Given the description of an element on the screen output the (x, y) to click on. 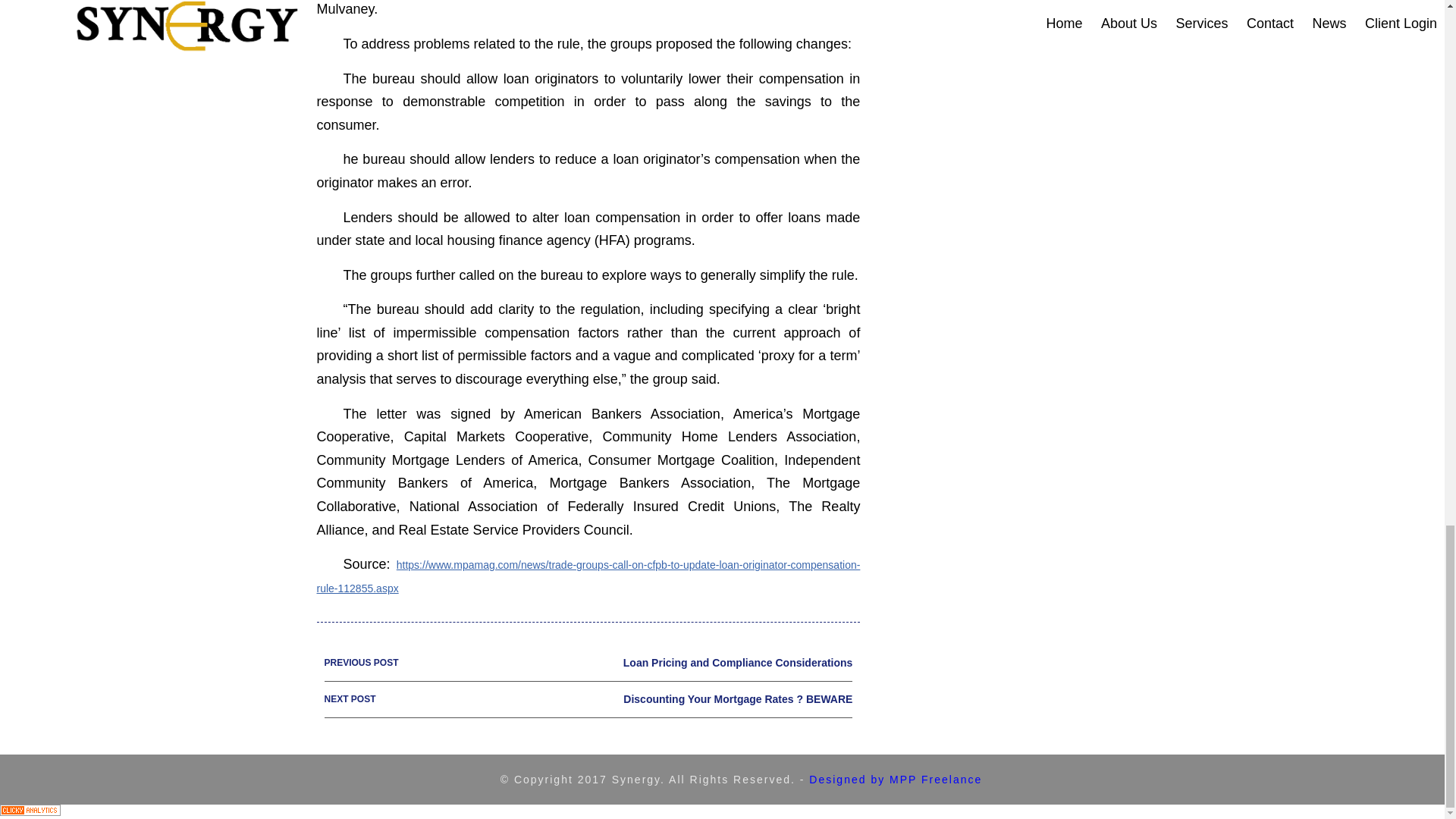
Web Statistics (30, 811)
Designed by MPP Freelance (588, 699)
